Given the description of an element on the screen output the (x, y) to click on. 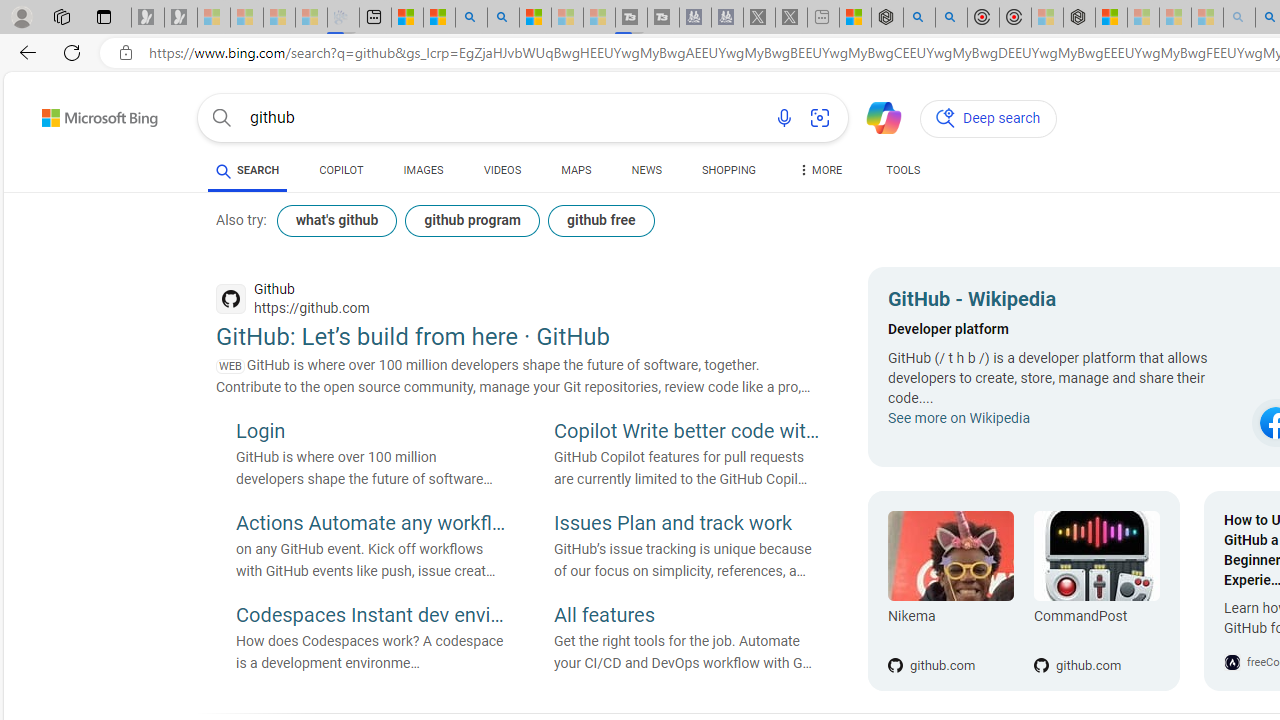
MAPS (576, 170)
CommandPost CommandPost github.com (1086, 591)
github free (600, 220)
github.com (1096, 632)
SHOPPING (728, 173)
GitHub - Wikipedia (1064, 302)
Search using an image (820, 117)
